Given the description of an element on the screen output the (x, y) to click on. 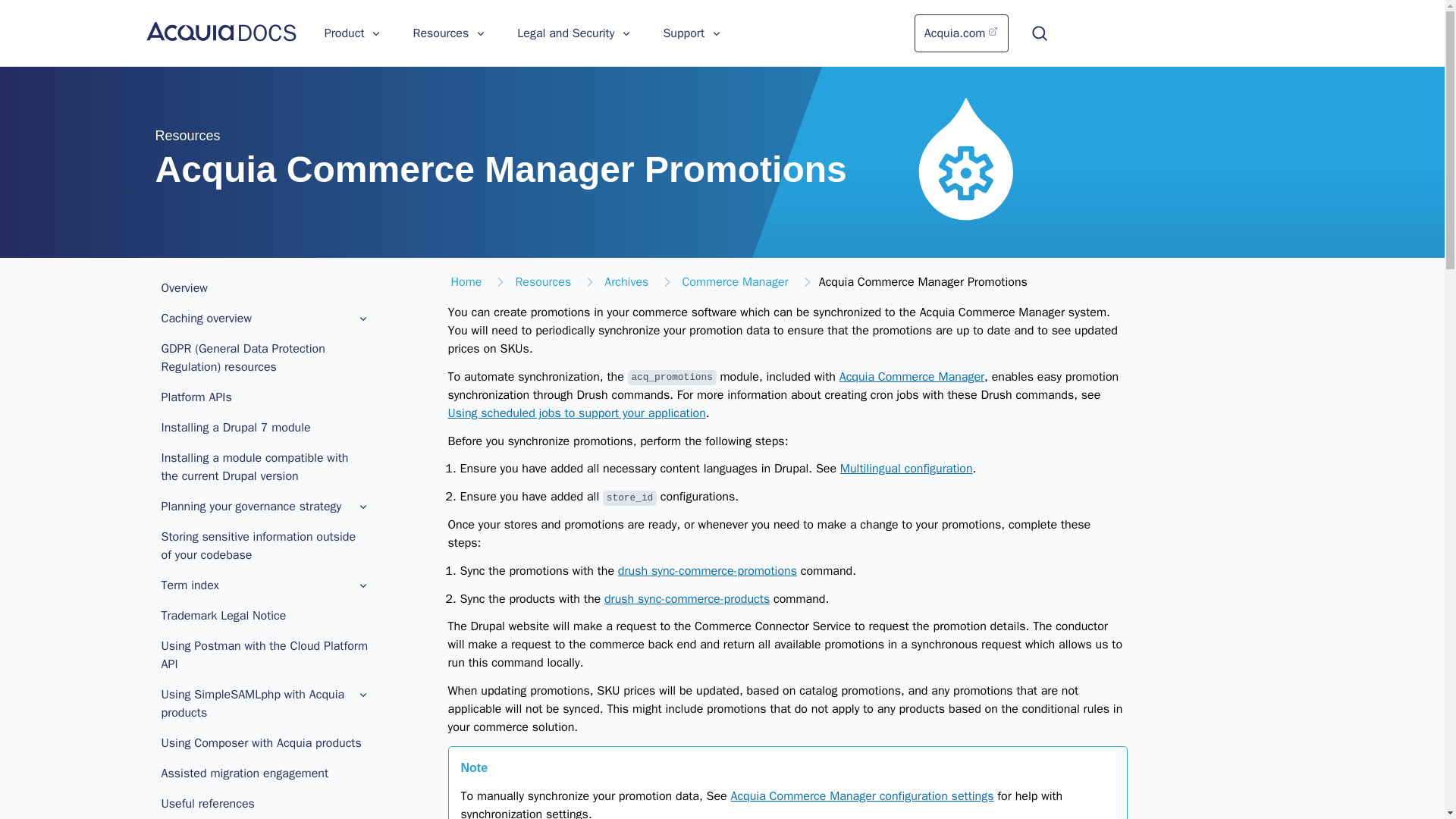
Installing a Drupal 7 module (264, 427)
Commerce Manager (734, 281)
Using Postman with the Cloud Platform API (264, 654)
Product (353, 33)
Legal and Security (575, 33)
Resources (449, 33)
Storing sensitive information outside of your codebase (264, 545)
Caching overview (264, 318)
Using Composer with Acquia products (264, 743)
